Given the description of an element on the screen output the (x, y) to click on. 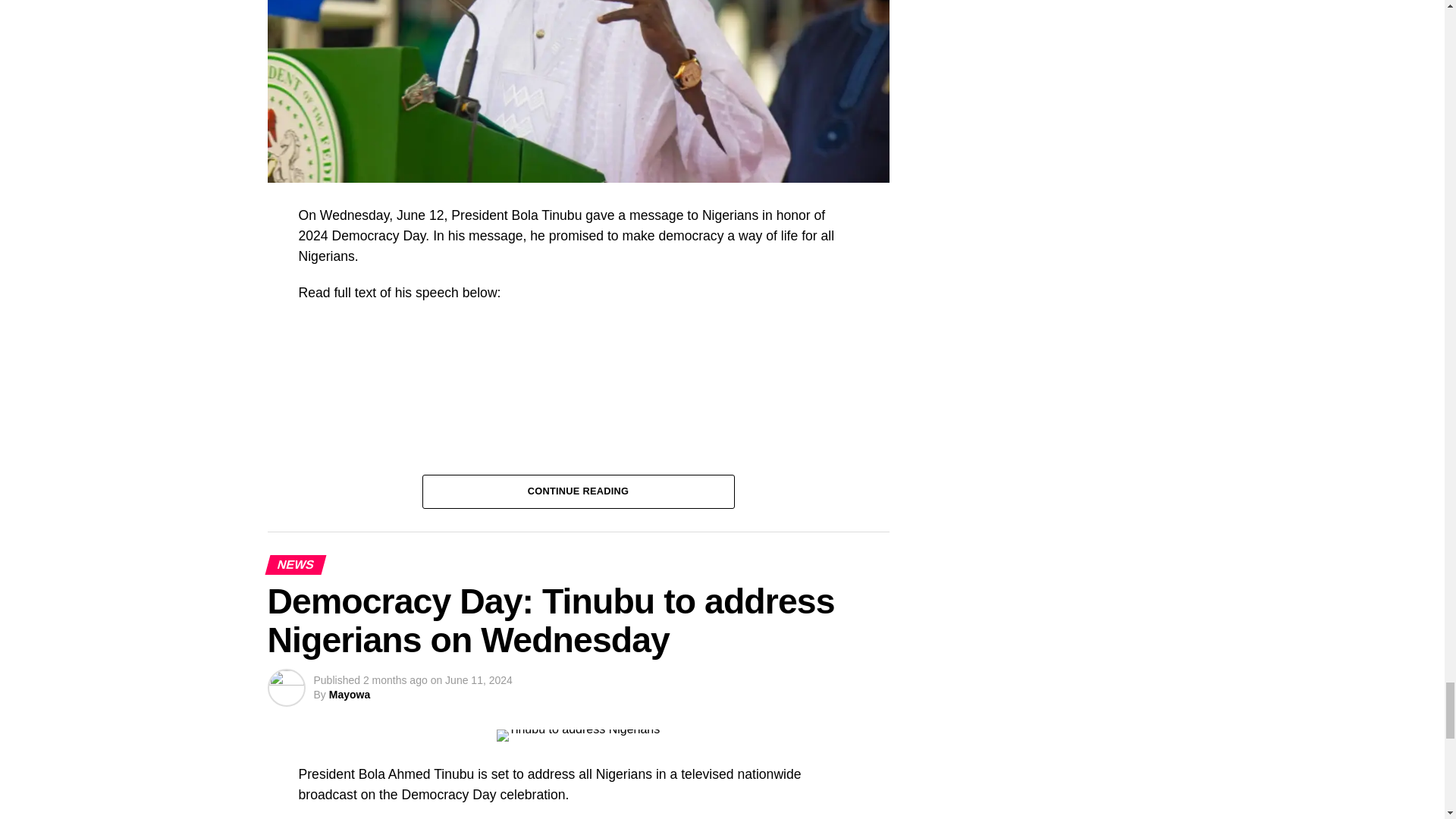
CONTINUE READING (577, 490)
Posts by Mayowa (349, 694)
Mayowa (349, 694)
